Given the description of an element on the screen output the (x, y) to click on. 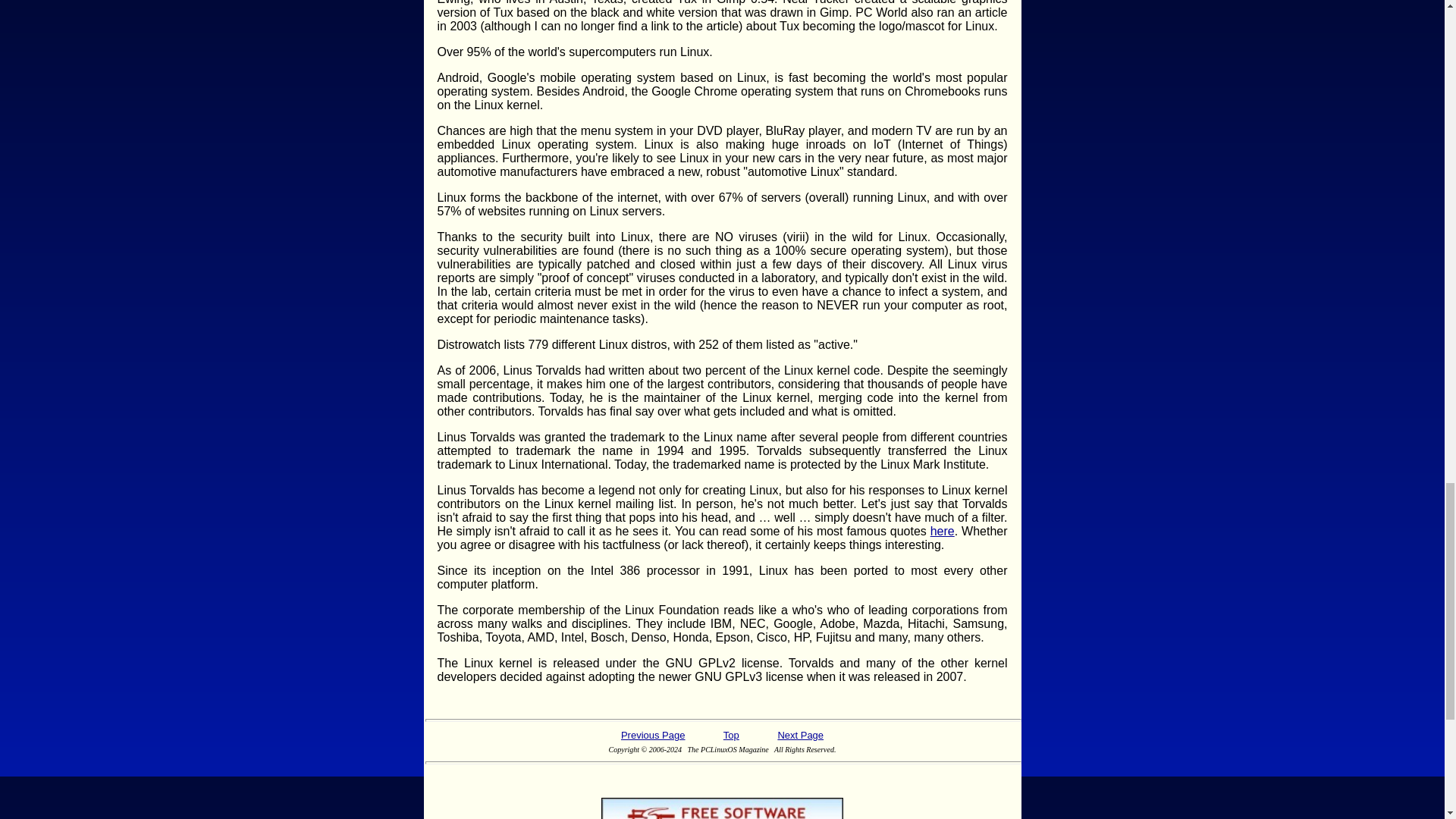
corporate membership (524, 609)
